Given the description of an element on the screen output the (x, y) to click on. 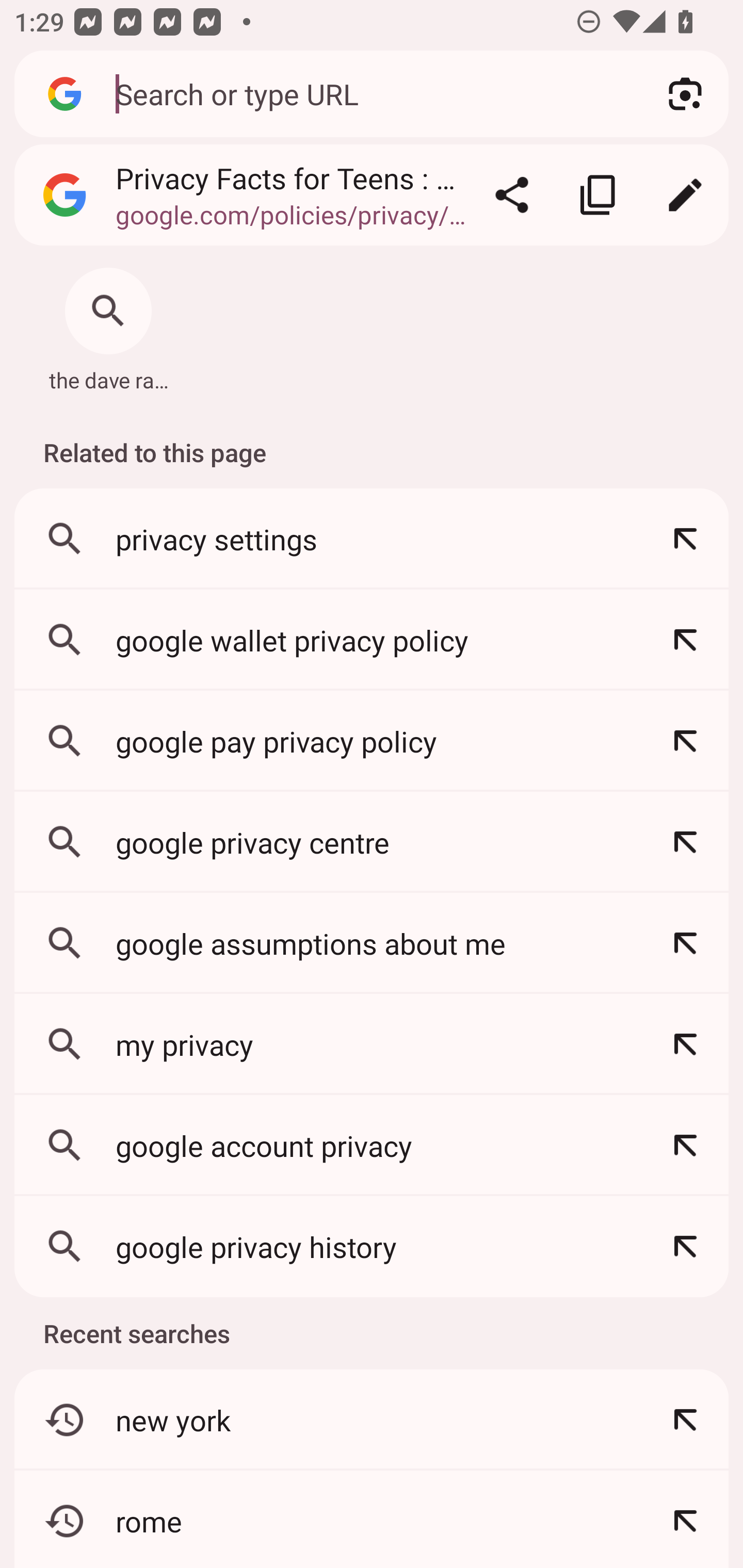
Search with your camera using Google Lens (684, 93)
Search or type URL (367, 92)
Share… (511, 195)
Copy link (598, 195)
Edit (684, 195)
Search: the dave ramsey show the dave ramsey show (108, 324)
privacy settings Refine: privacy settings (371, 539)
Refine: privacy settings (684, 539)
Refine: google wallet privacy policy (684, 639)
Refine: google pay privacy policy (684, 740)
Refine: google privacy centre (684, 841)
Refine: google assumptions about me (684, 943)
my privacy Refine: my privacy (371, 1044)
Refine: my privacy (684, 1044)
Refine: google account privacy (684, 1145)
Refine: google privacy history (684, 1246)
new york Refine: new york (371, 1419)
Refine: new york (684, 1419)
rome Refine: rome (371, 1519)
Refine: rome (684, 1519)
